Given the description of an element on the screen output the (x, y) to click on. 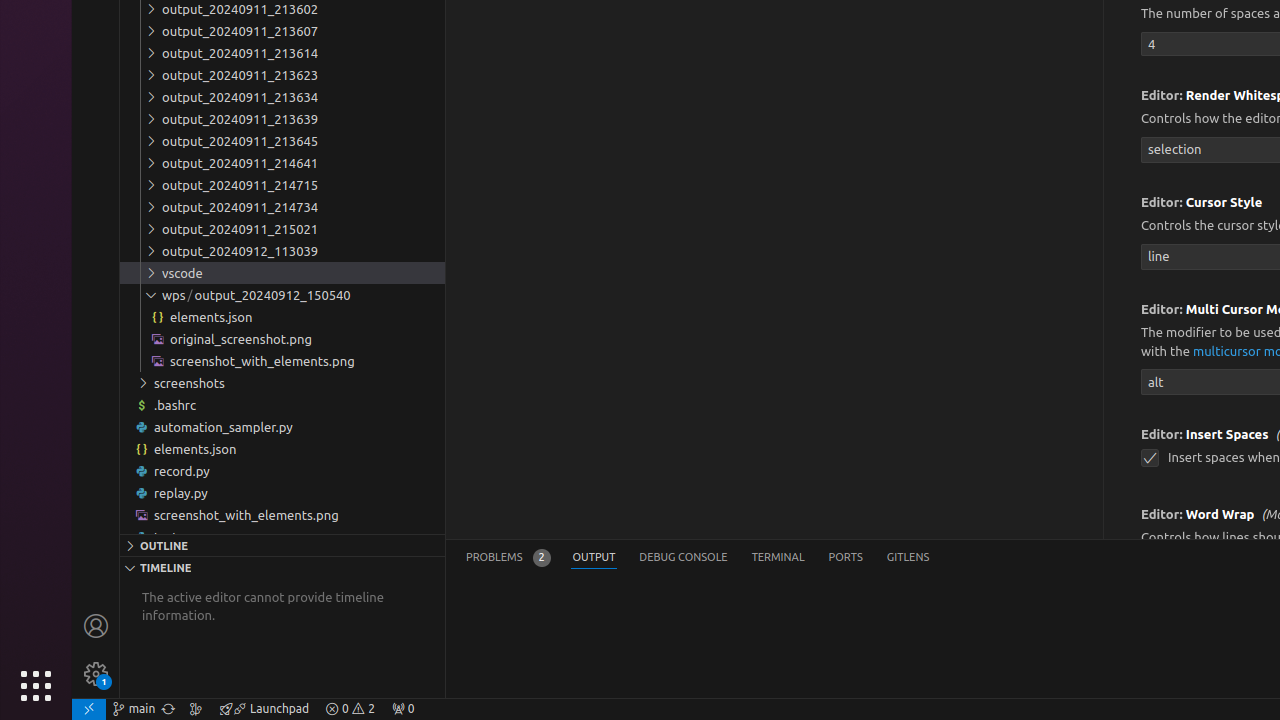
output_20240911_215021 Element type: tree-item (282, 228)
Problems (Ctrl+Shift+M) - Total 2 Problems Element type: page-tab (507, 557)
editor.insertSpaces Element type: check-box (1150, 458)
output_20240911_213614 Element type: tree-item (282, 53)
output_20240911_213639 Element type: tree-item (282, 119)
